Given the description of an element on the screen output the (x, y) to click on. 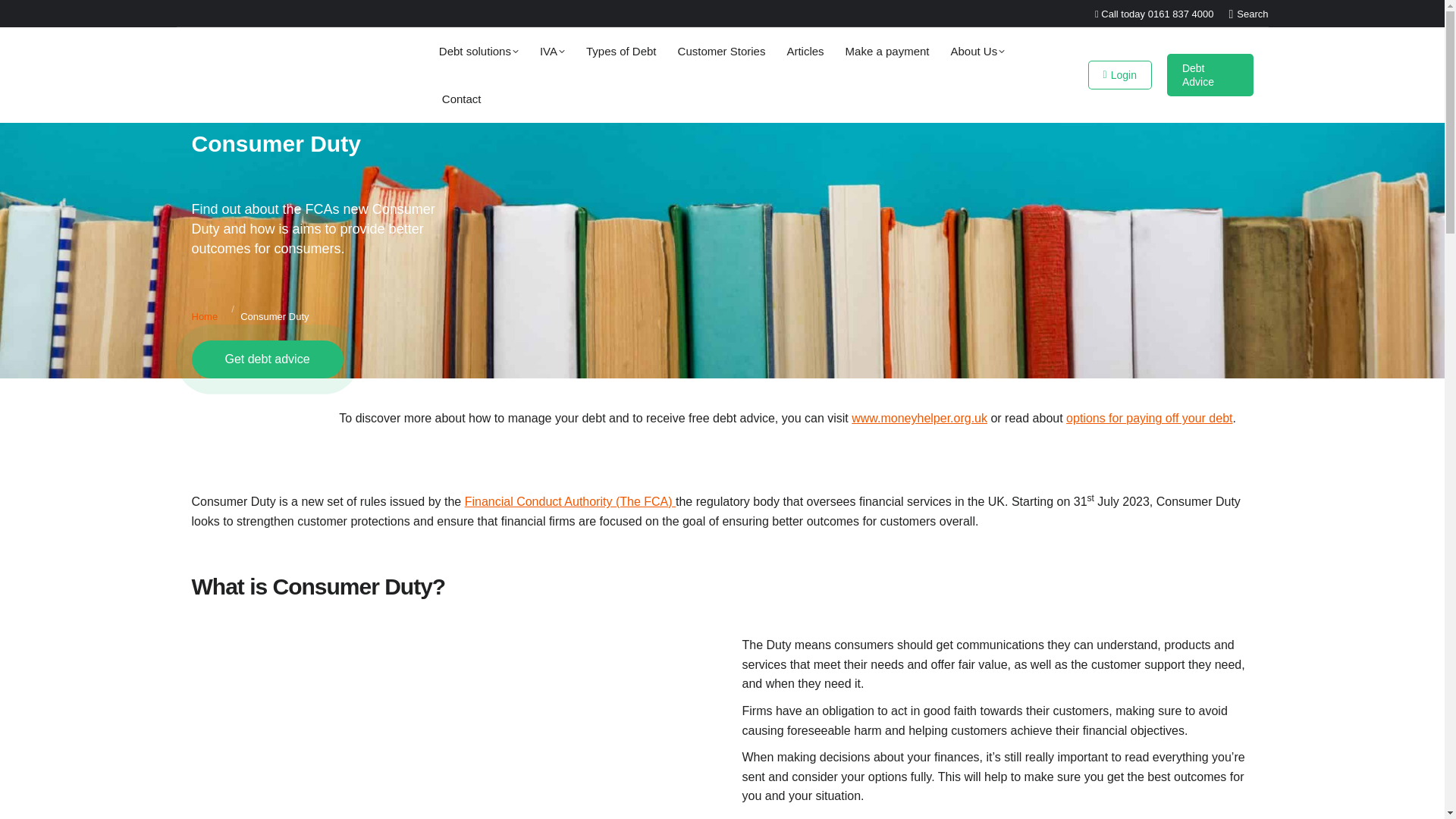
About Us (978, 50)
Make a payment (888, 50)
Customer Stories (721, 50)
Call today 0161 837 4000 (1154, 12)
Contact (461, 98)
Go! (24, 16)
Articles (805, 50)
Types of Debt (621, 50)
Debt Advice (1210, 75)
Debt solutions (475, 50)
Search (1248, 12)
IVA (552, 50)
Home (203, 316)
Login (1119, 74)
